Given the description of an element on the screen output the (x, y) to click on. 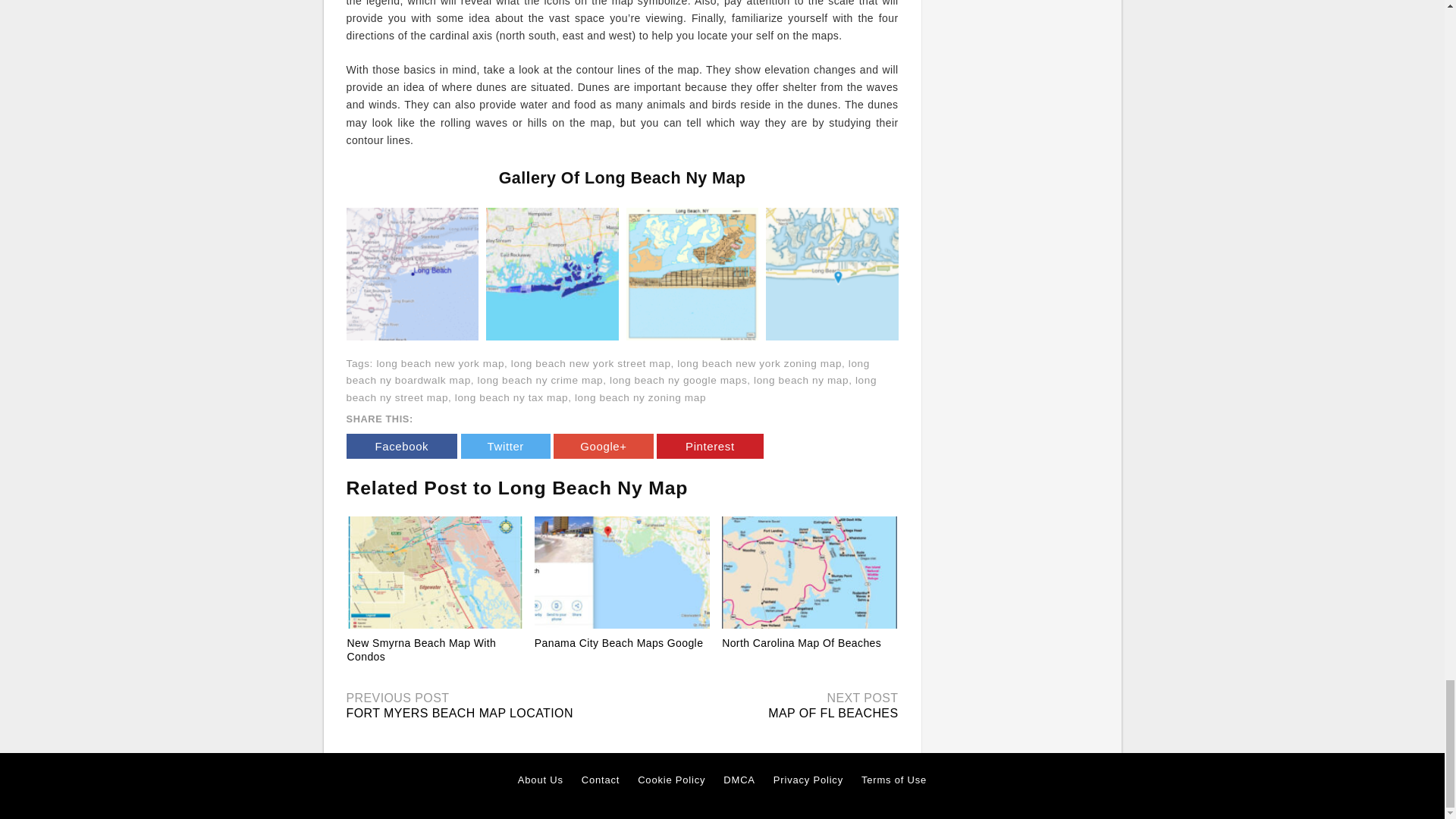
long beach ny tax map (510, 397)
Long Beach NY Crime Rates And Statistics NeighborhoodScout (552, 274)
long beach ny crime map (540, 379)
long beach new york street map (591, 363)
Long Beach New York Street Map 3643335 (692, 272)
Long Beach New York Street Map 3643335 (692, 274)
long beach new york zoning map (759, 363)
long beach new york map (439, 363)
long beach ny street map (611, 388)
long beach ny google maps (678, 379)
long beach ny boardwalk map (607, 371)
Long Beach NY Crime Rates And Statistics NeighborhoodScout (552, 272)
long beach ny map (801, 379)
